Given the description of an element on the screen output the (x, y) to click on. 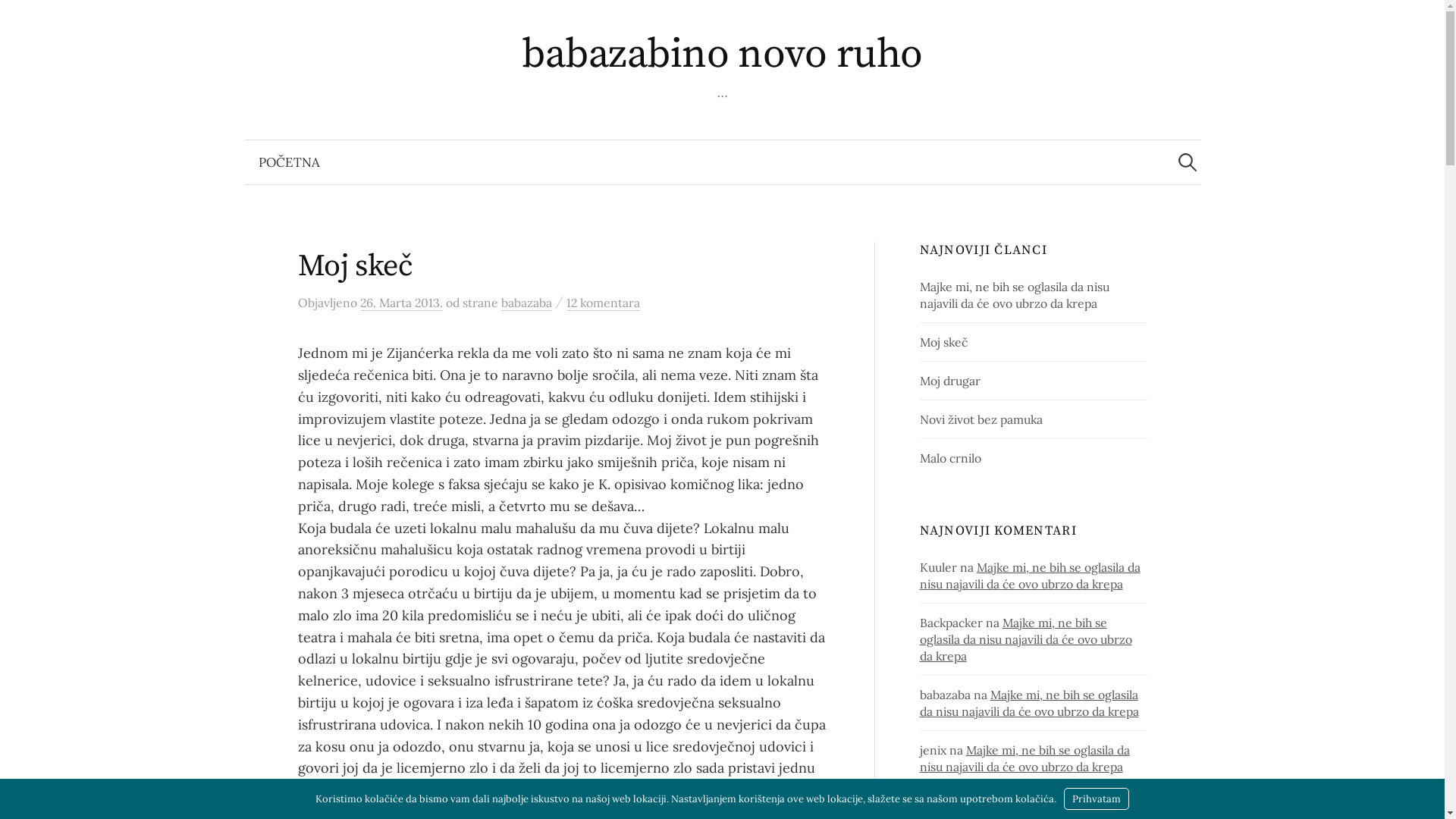
Malo crnilo Element type: text (950, 457)
babazabino novo ruho Element type: text (721, 54)
26. Marta 2013. Element type: text (400, 302)
babazaba Element type: text (525, 302)
Prihvatam Element type: text (1096, 798)
Moj drugar Element type: text (949, 380)
Pretraga Element type: text (18, 18)
